Given the description of an element on the screen output the (x, y) to click on. 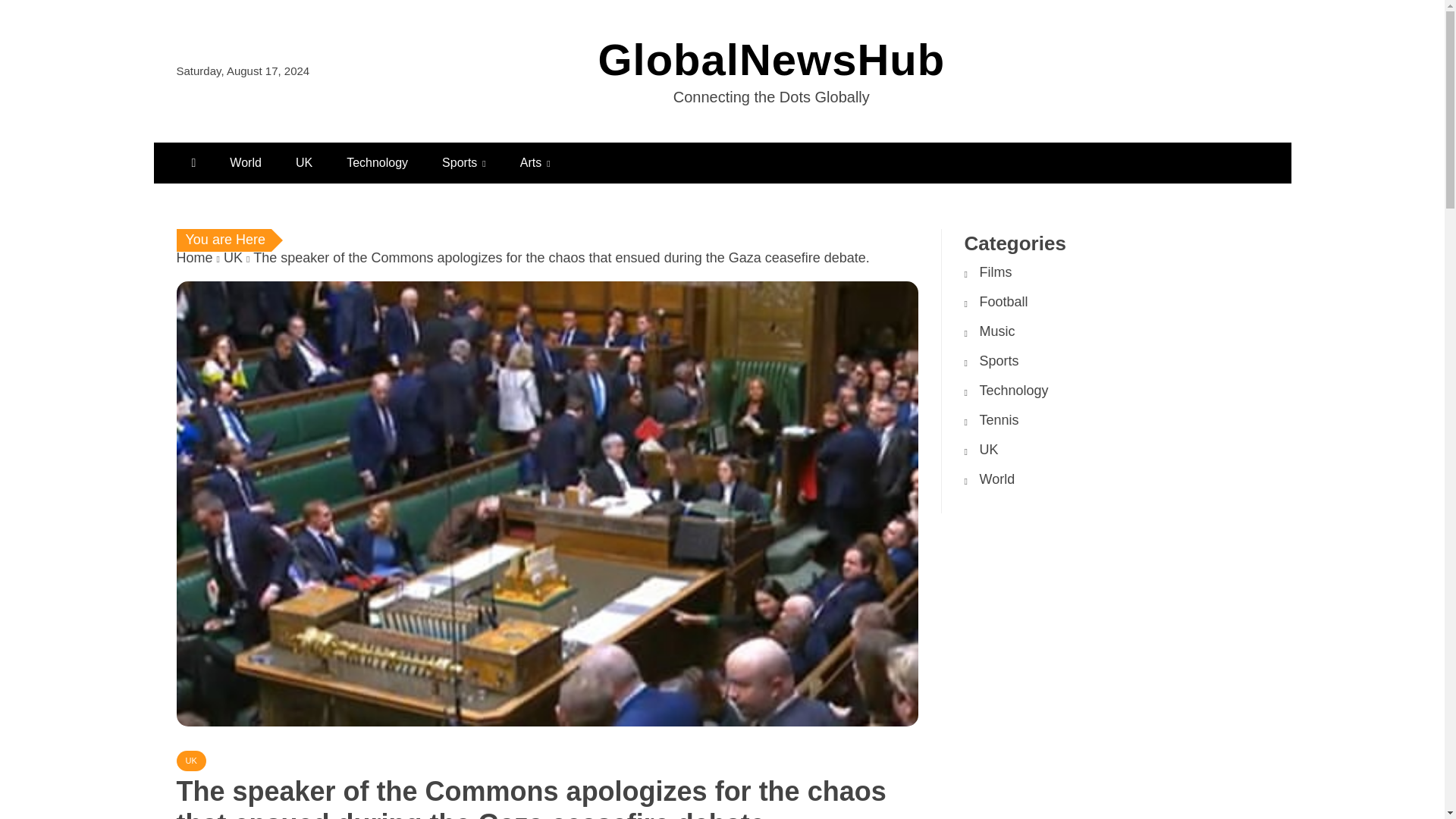
Football (1003, 301)
UK (233, 257)
World (245, 162)
Sports (999, 360)
Home (194, 257)
Technology (1013, 390)
Music (996, 331)
Arts (535, 162)
Technology (377, 162)
Sports (463, 162)
